Given the description of an element on the screen output the (x, y) to click on. 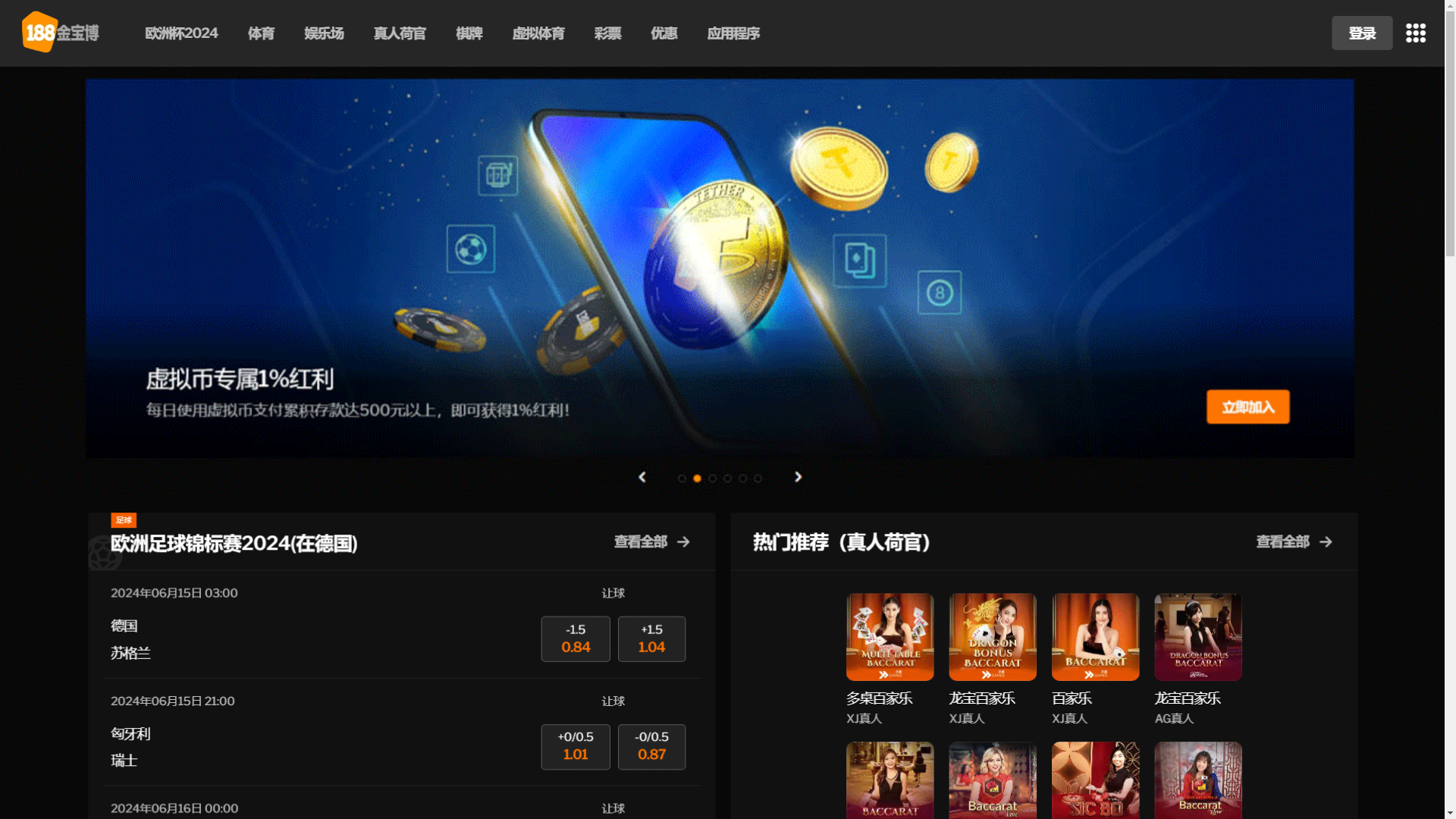
Support (1032, 45)
Find Rep (1098, 45)
The Gale Blog (354, 54)
188asia.net (905, 132)
Schools (493, 132)
My Account (961, 45)
188asia.bet (574, 132)
Thorndike Press (674, 132)
Subscribe (1029, 439)
Search for: (1069, 218)
